Given the description of an element on the screen output the (x, y) to click on. 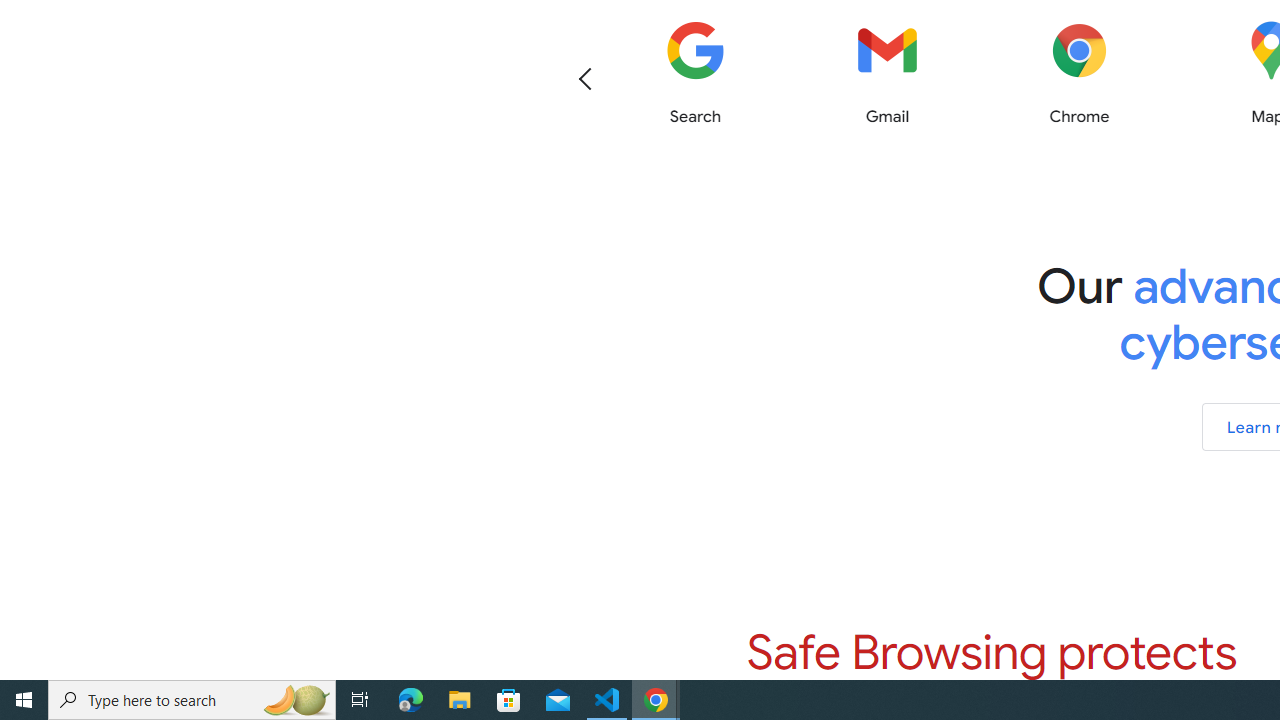
Previous (585, 78)
